Given the description of an element on the screen output the (x, y) to click on. 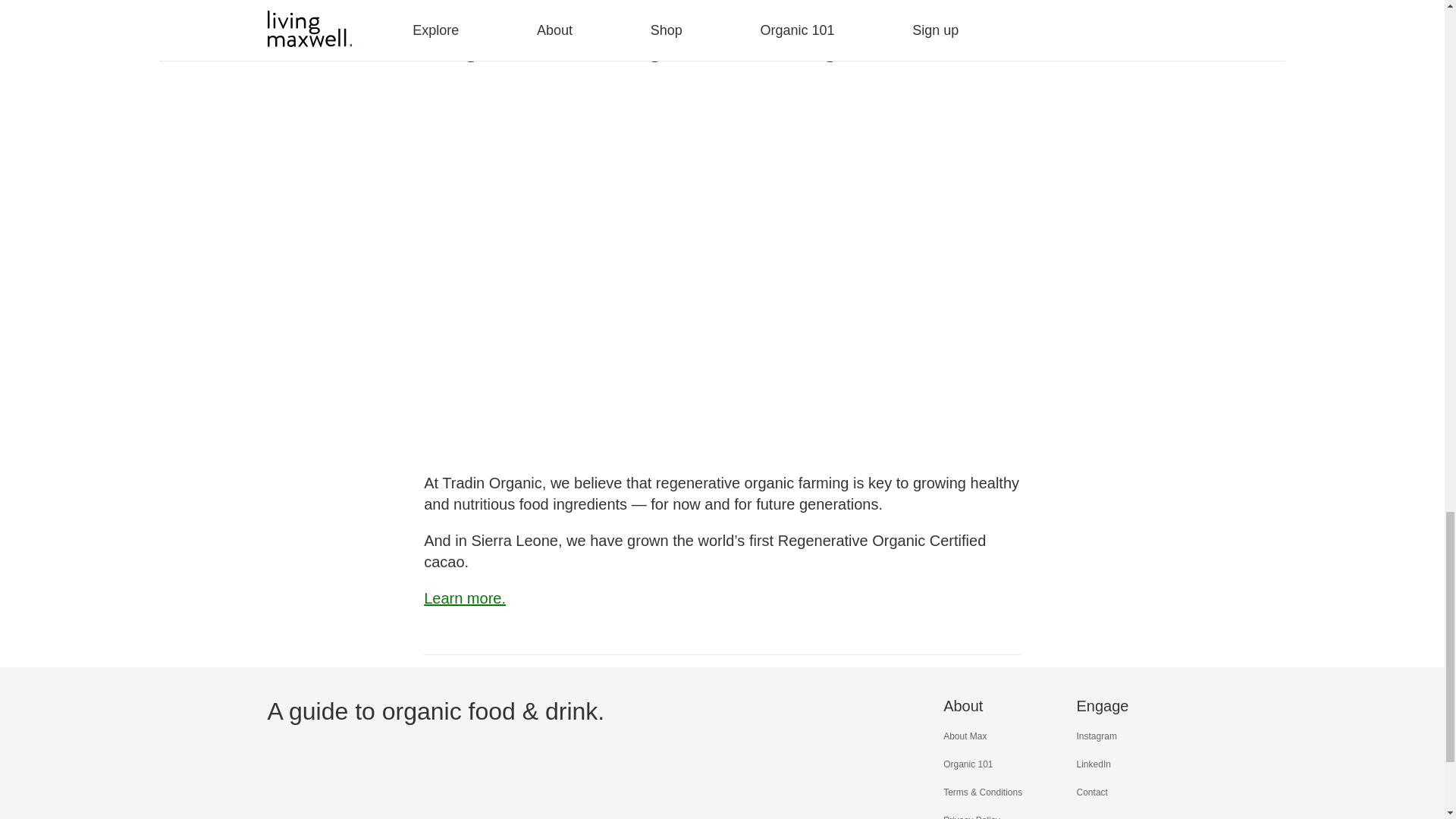
Contact (1092, 792)
Privacy Policy (971, 816)
Instagram (1096, 736)
About Max (965, 736)
Learn more. (464, 597)
LinkedIn (1093, 764)
Organic 101 (967, 764)
